Given the description of an element on the screen output the (x, y) to click on. 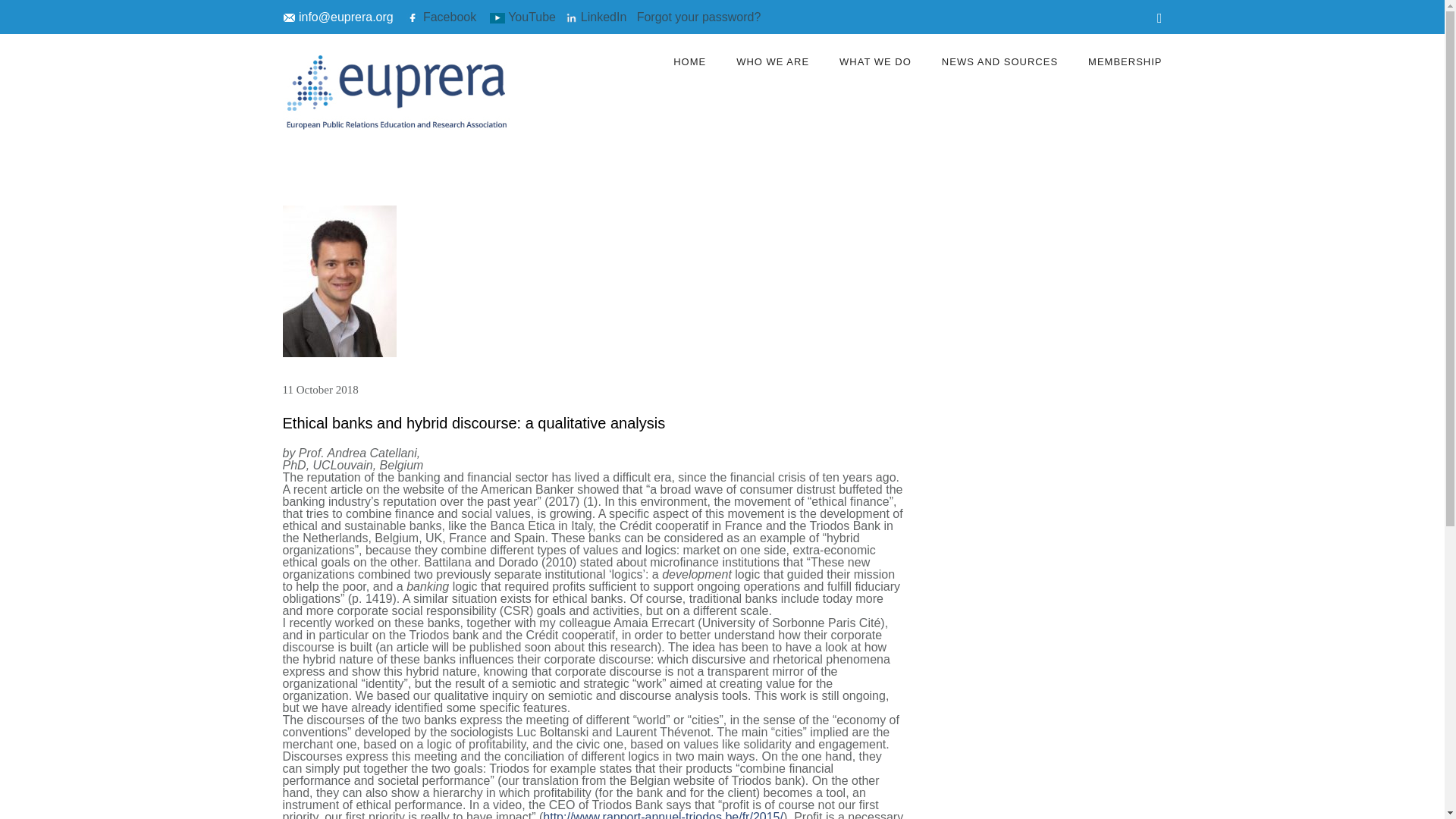
Facebook (441, 16)
WHAT WE DO (875, 61)
Forgot your password? (699, 16)
YouTube (522, 16)
WHO WE ARE (772, 61)
HOME (689, 61)
LinkedIn (597, 16)
